Given the description of an element on the screen output the (x, y) to click on. 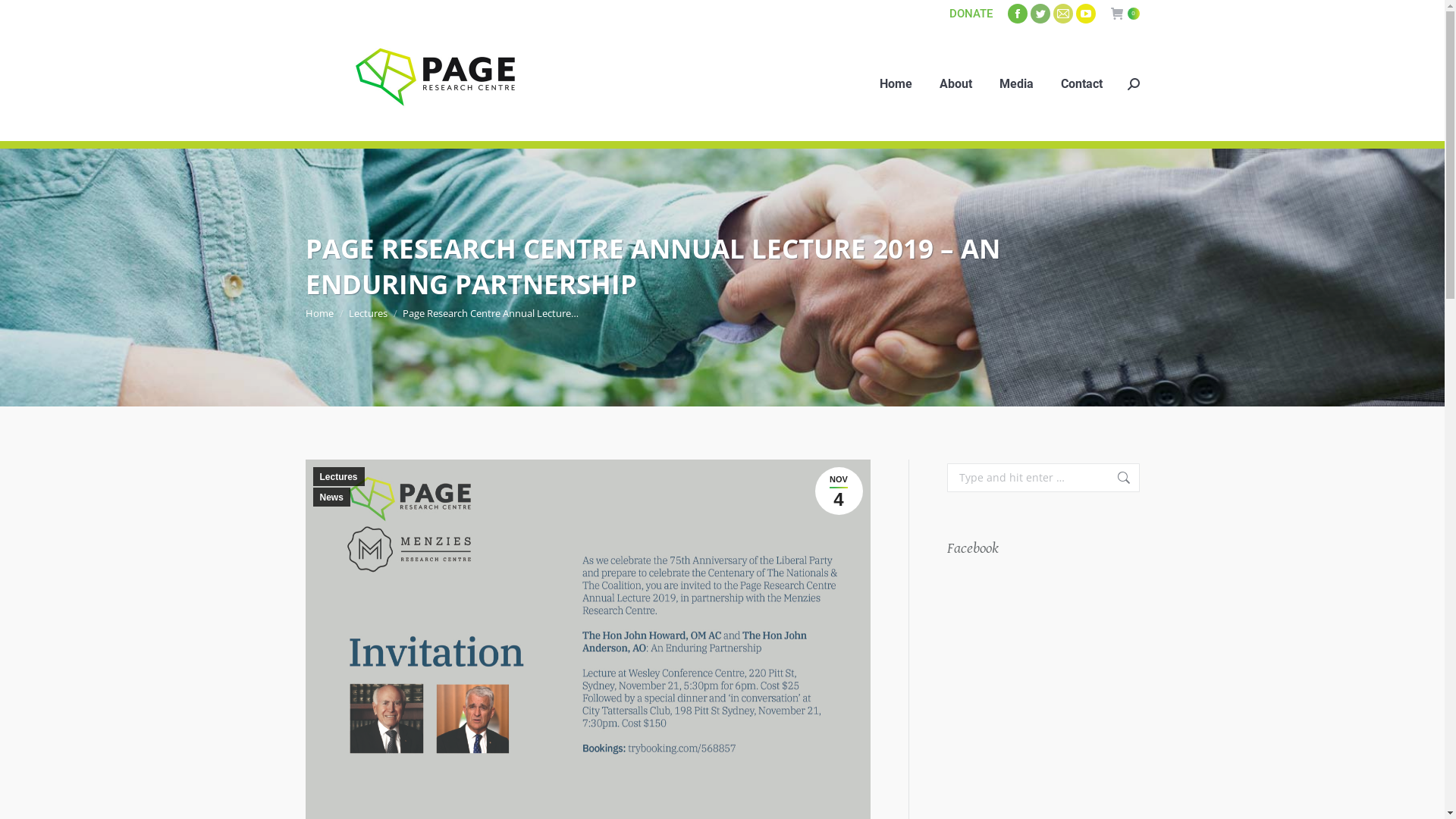
DONATE Element type: text (970, 12)
Mail page opens in new window Element type: text (1062, 13)
YouTube page opens in new window Element type: text (1085, 13)
Twitter page opens in new window Element type: text (1039, 13)
Media Element type: text (1016, 84)
Lectures Element type: text (338, 476)
Lectures Element type: text (367, 313)
Go! Element type: text (1116, 477)
Go! Element type: text (25, 17)
Home Element type: text (895, 84)
NOV
4 Element type: text (838, 490)
Facebook page opens in new window Element type: text (1016, 13)
Home Element type: text (318, 313)
Contact Element type: text (1080, 84)
About Element type: text (954, 84)
 0 Element type: text (1124, 13)
News Element type: text (330, 496)
